Given the description of an element on the screen output the (x, y) to click on. 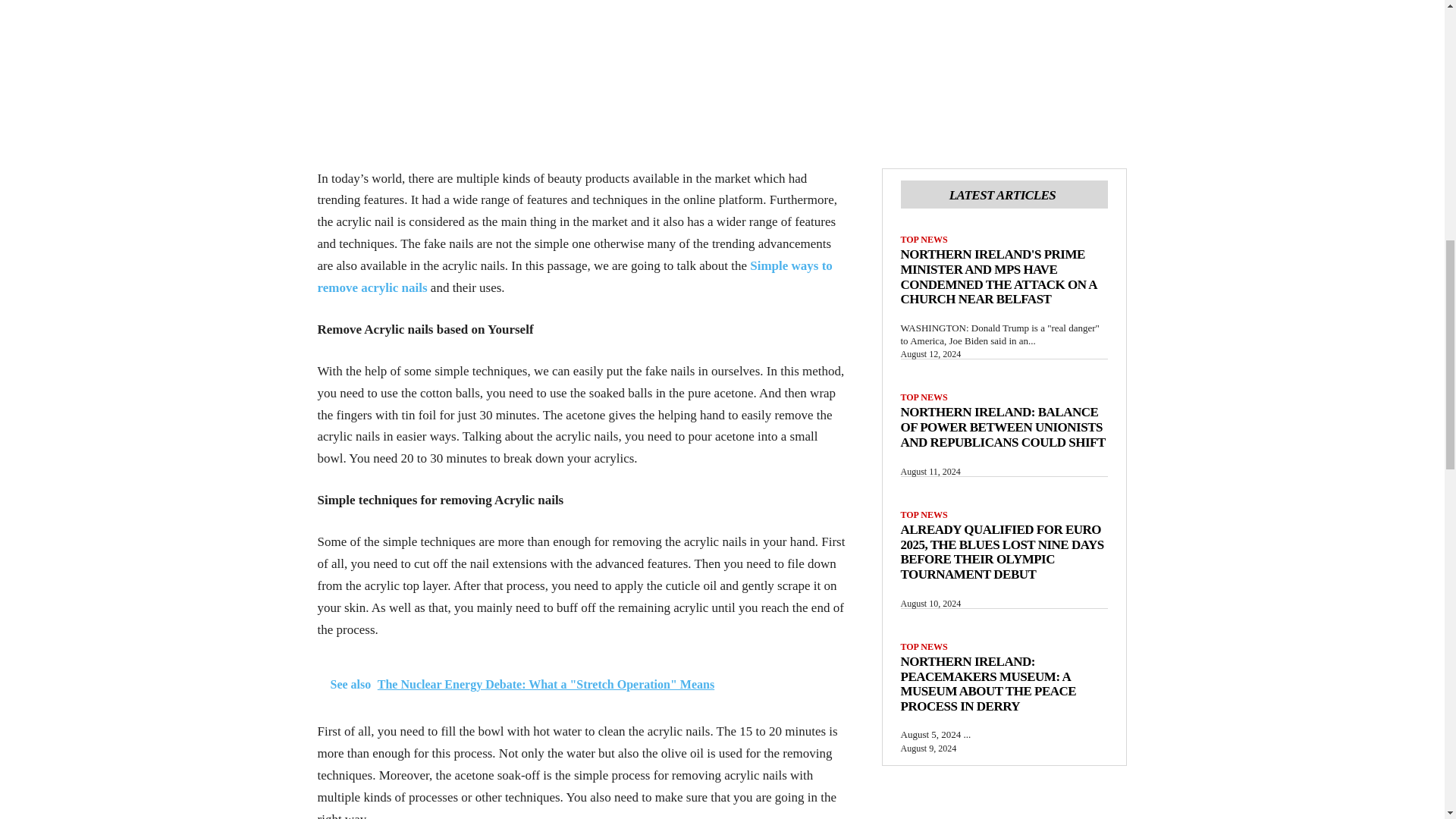
TOP NEWS (924, 397)
Simple ways to remove acrylic nails (574, 276)
TOP NEWS (924, 239)
TOP NEWS (924, 646)
